Given the description of an element on the screen output the (x, y) to click on. 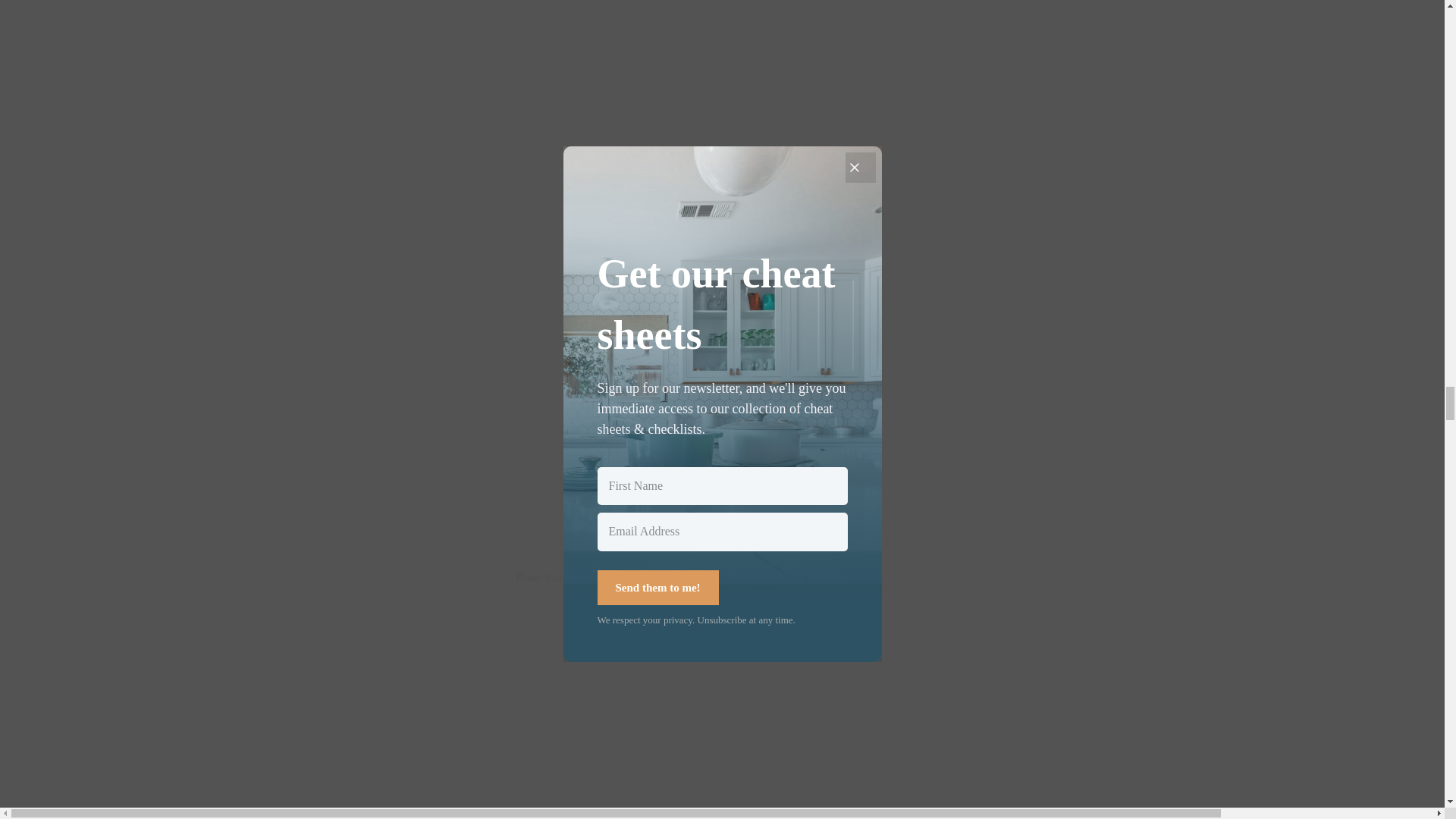
Faith Towers (573, 577)
